Given the description of an element on the screen output the (x, y) to click on. 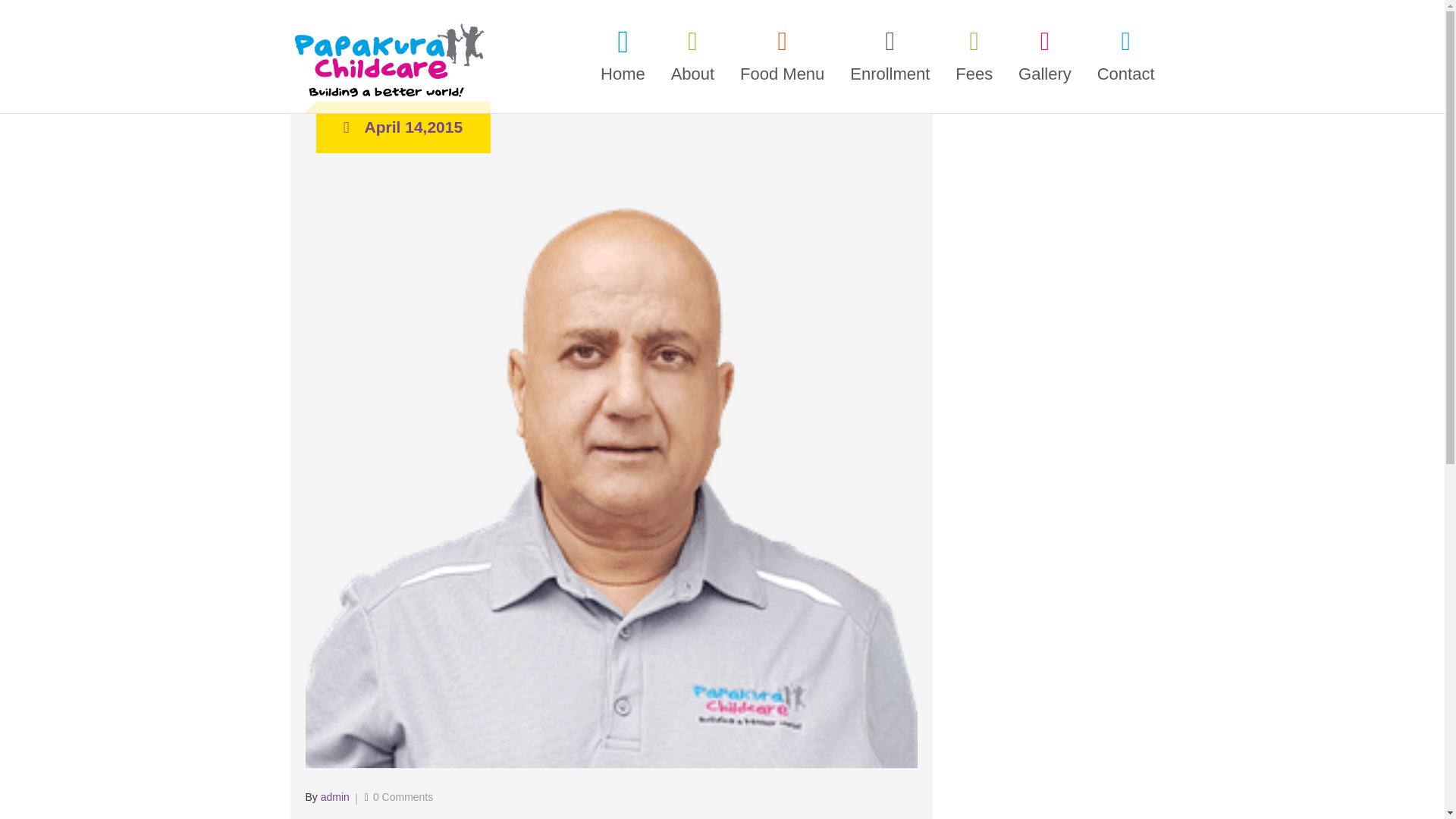
Home (622, 52)
Posts by admin (334, 797)
admin (334, 797)
0 Comments (402, 797)
About (692, 52)
Enrollment (889, 52)
Contact (1120, 52)
Food Menu (782, 52)
Fees (973, 52)
Gallery (1045, 52)
